Given the description of an element on the screen output the (x, y) to click on. 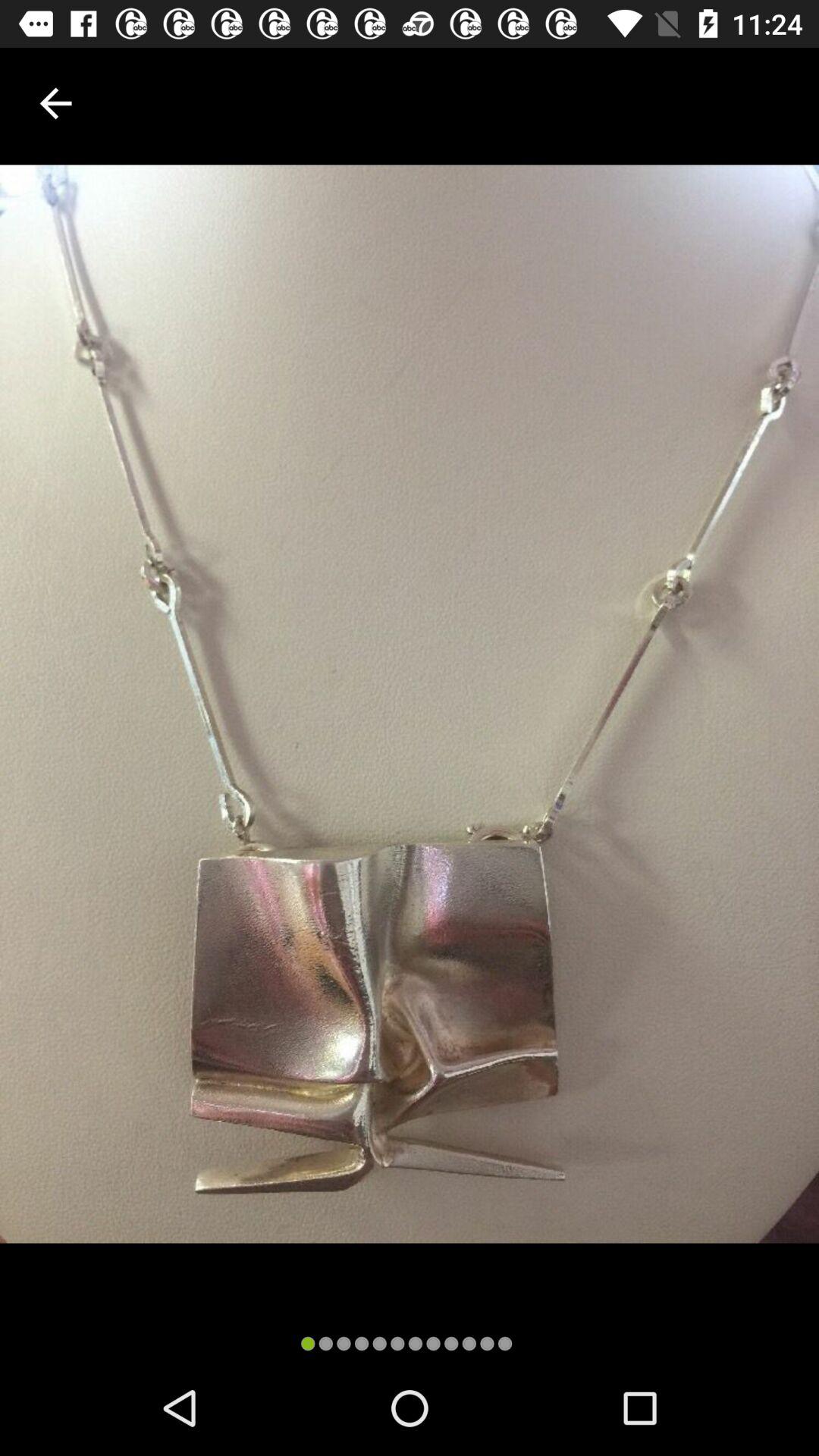
select the icon at the top left corner (55, 103)
